Given the description of an element on the screen output the (x, y) to click on. 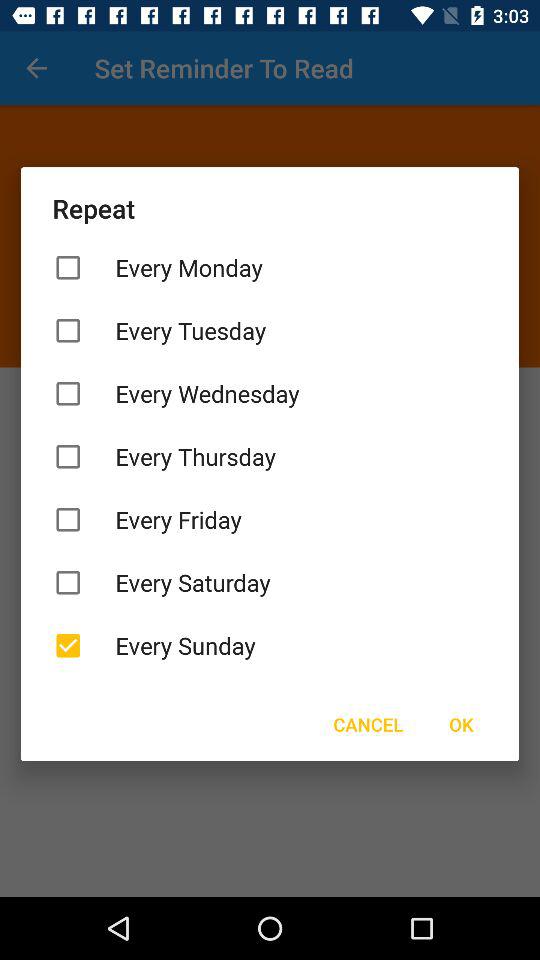
open item above the cancel icon (270, 645)
